Given the description of an element on the screen output the (x, y) to click on. 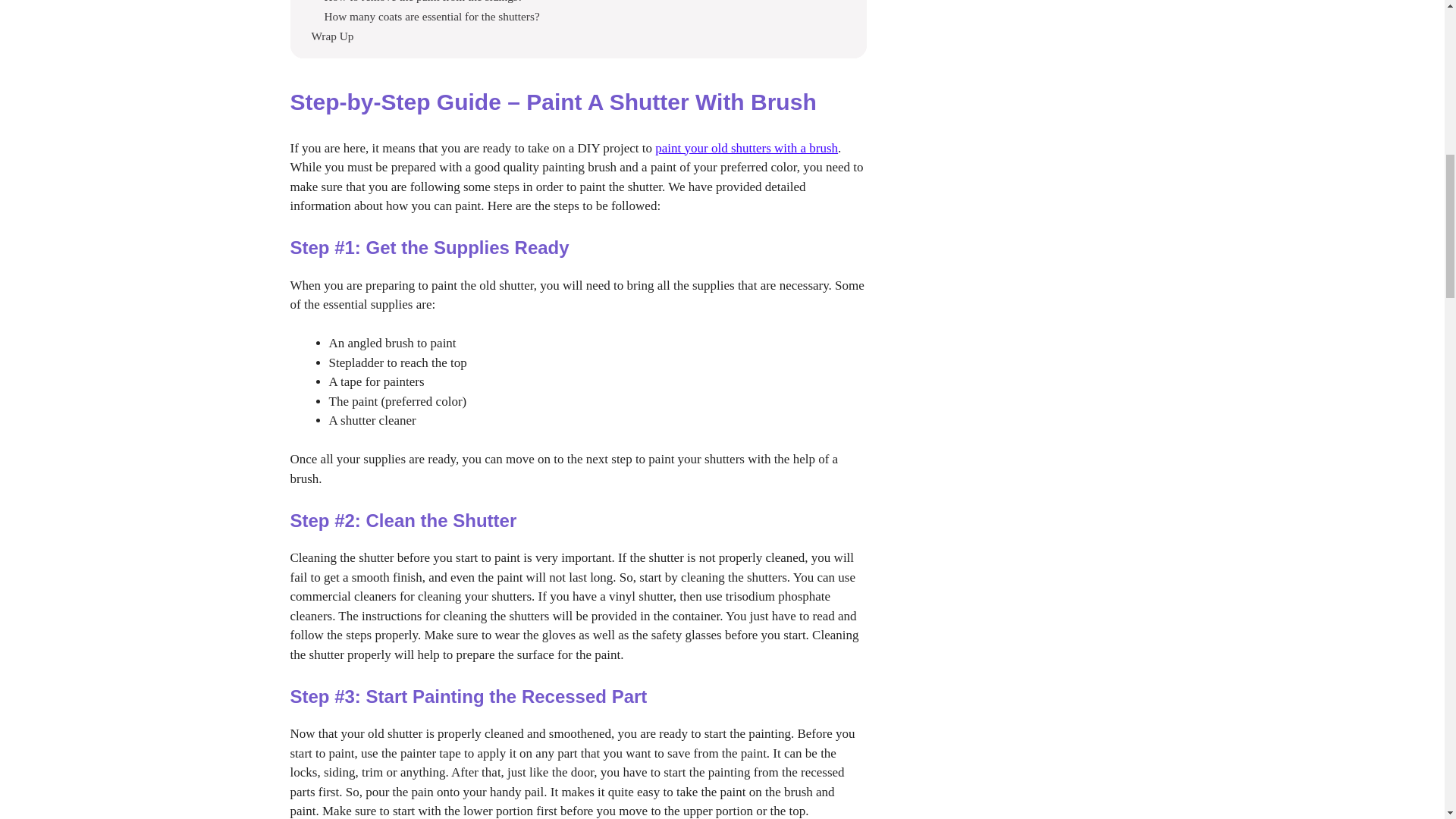
Wrap Up (332, 36)
How to remove the paint from the sidings? (423, 2)
How many coats are essential for the shutters? (432, 16)
How to remove the paint from the sidings? (423, 2)
How many coats are essential for the shutters? (432, 16)
paint your old shutters with a brush (746, 147)
